Given the description of an element on the screen output the (x, y) to click on. 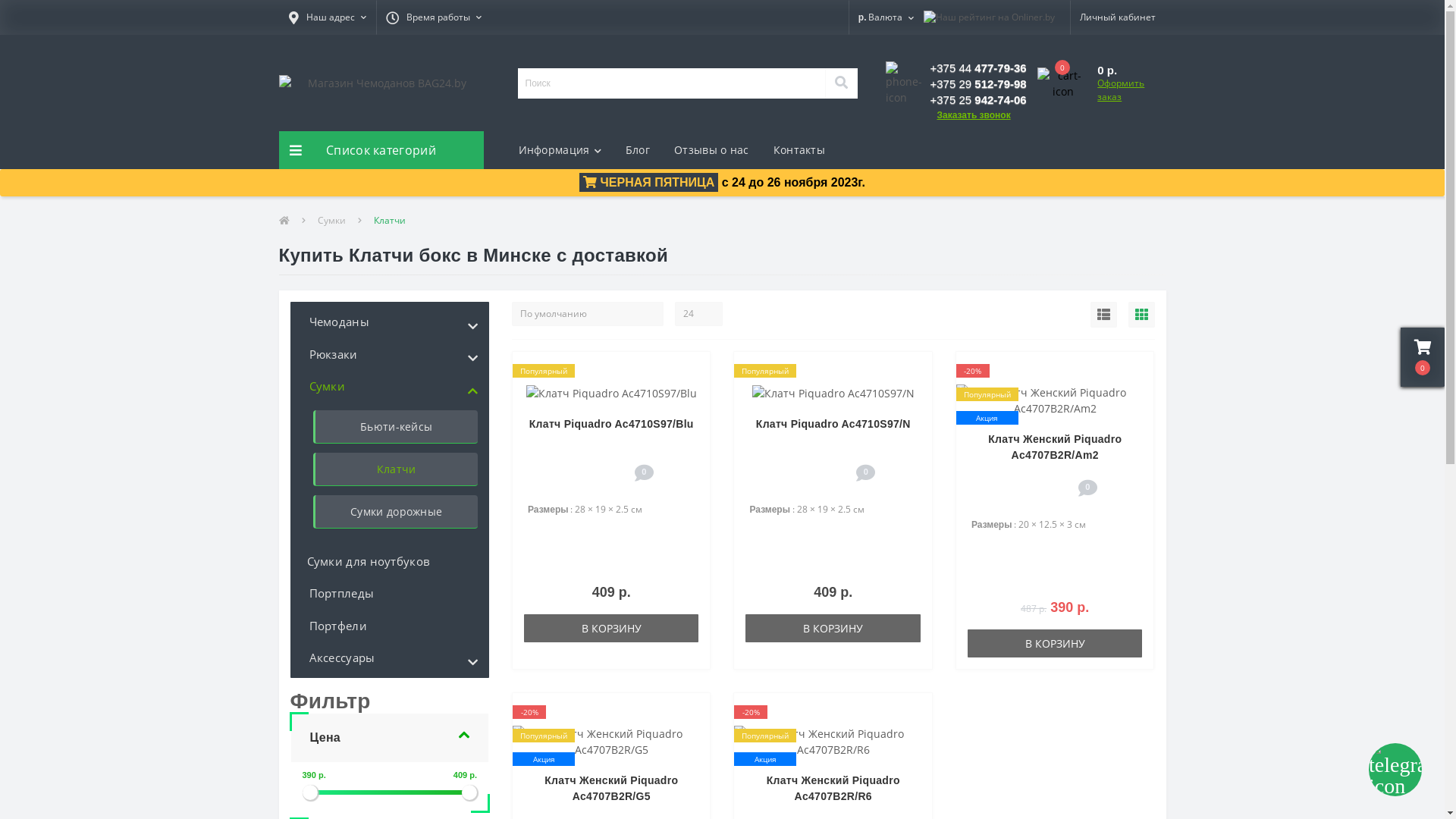
0 Element type: text (1422, 356)
0 Element type: text (1063, 82)
+375 29 512-79-98 Element type: text (978, 83)
+375 44 477-79-36 Element type: text (978, 68)
+375 25 942-74-06 Element type: text (978, 99)
